Given the description of an element on the screen output the (x, y) to click on. 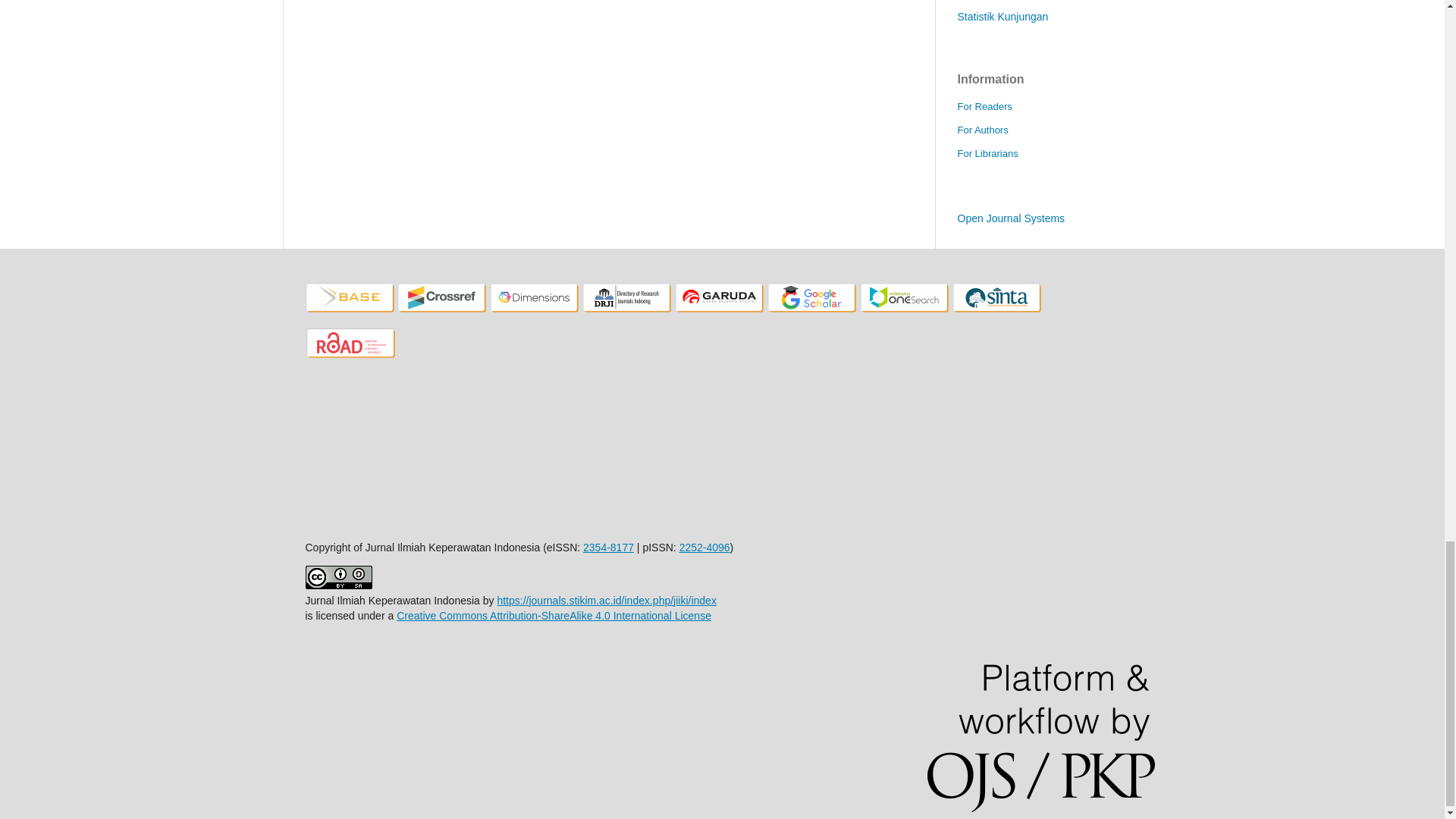
ROAD JIIKI (350, 355)
